Given the description of an element on the screen output the (x, y) to click on. 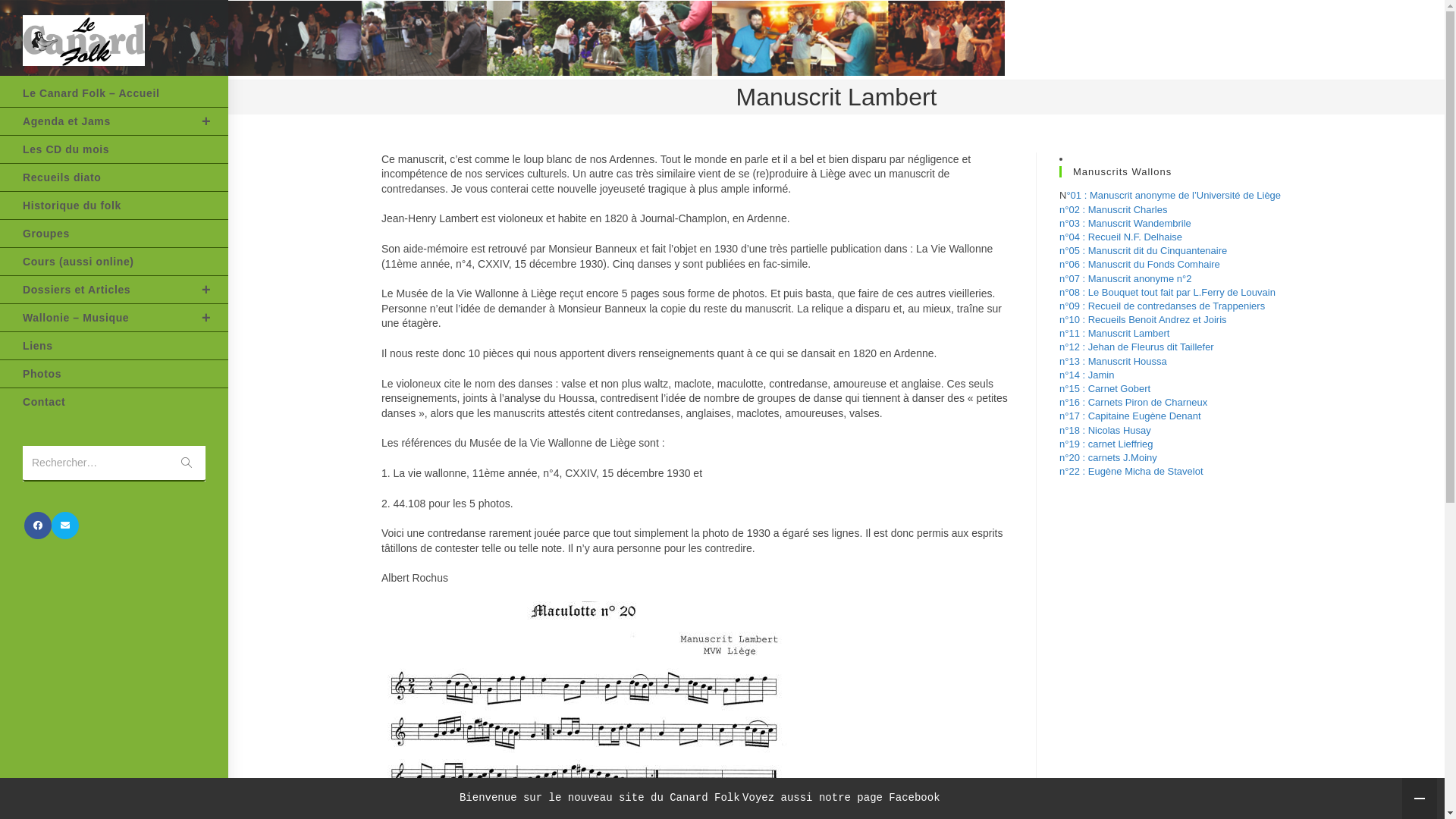
Cours (aussi online) Element type: text (114, 261)
Liens Element type: text (114, 345)
Agenda et Jams Element type: text (114, 120)
Photos Element type: text (114, 373)
Les CD du mois Element type: text (114, 149)
Groupes Element type: text (114, 233)
Voyez aussi notre page Facebook Element type: text (840, 797)
Contact Element type: text (114, 401)
Dossiers et Articles Element type: text (114, 289)
Historique du folk Element type: text (114, 205)
Recueils diato Element type: text (114, 177)
